Given the description of an element on the screen output the (x, y) to click on. 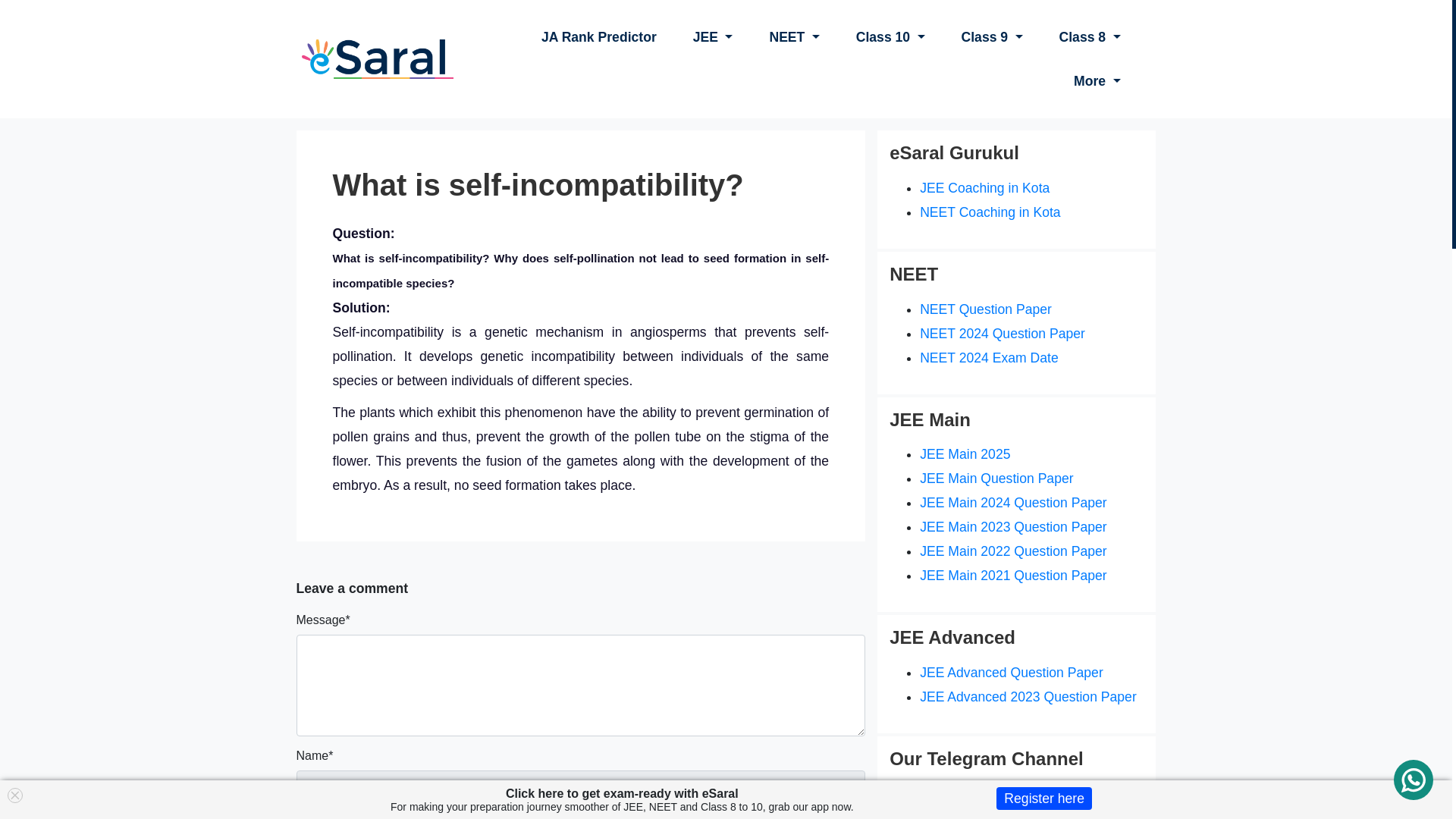
NEET (793, 36)
Class 8 (1088, 36)
Class 9 (992, 36)
More (1096, 81)
JEE (713, 36)
Class 10 (890, 36)
JA Rank Predictor (598, 36)
